Given the description of an element on the screen output the (x, y) to click on. 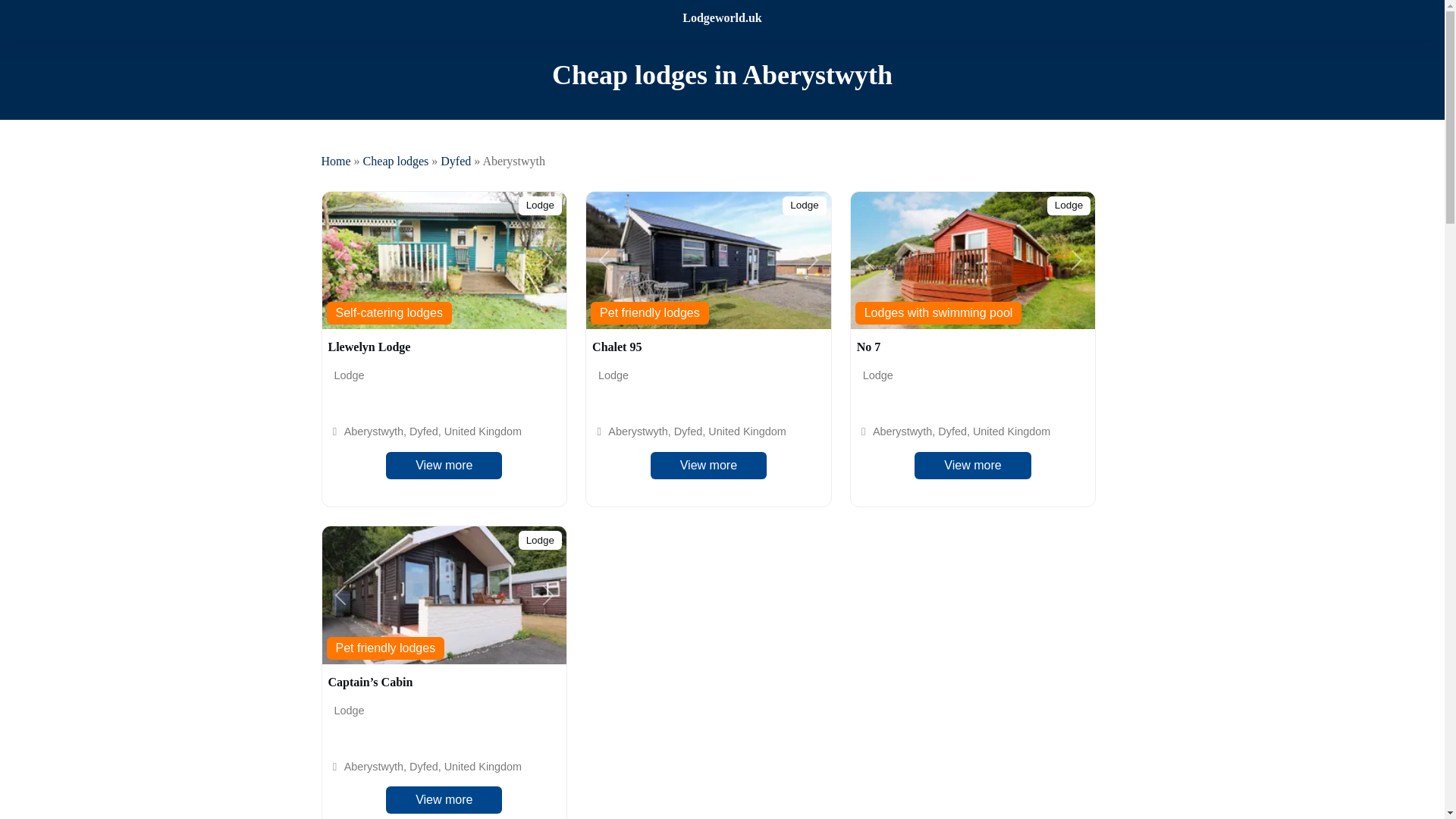
Llewelyn Lodge (368, 346)
View: Llewelyn Lodge (368, 346)
View: Chalet 95 (617, 346)
Lodges with swimming pool (939, 313)
No 7 (868, 346)
Lodgeworld.uk (721, 17)
Chalet 95 (617, 346)
Pet friendly lodges (650, 313)
Pet friendly lodges (385, 648)
Cheap lodges (395, 160)
